Given the description of an element on the screen output the (x, y) to click on. 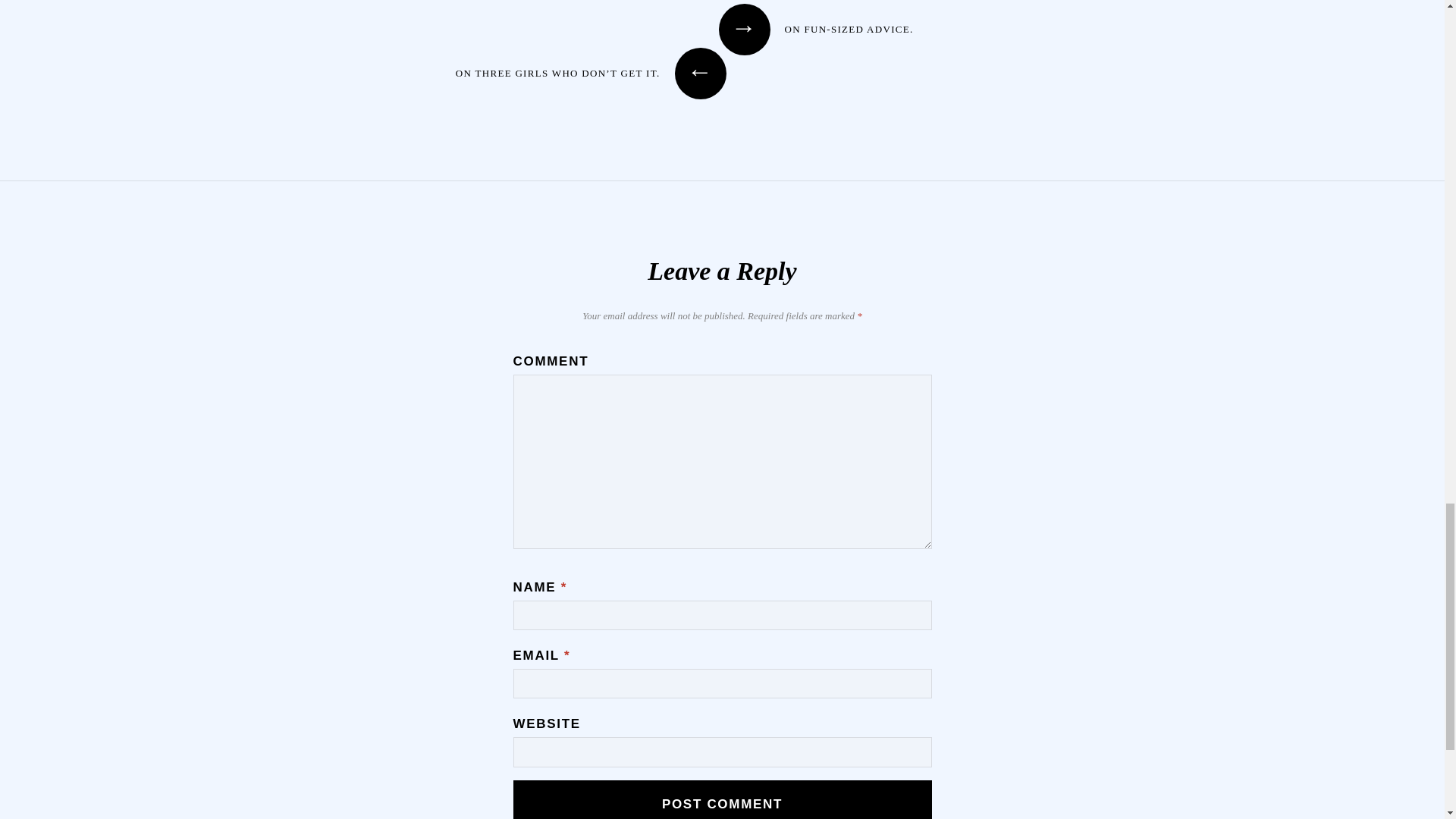
Post Comment (721, 799)
Post Comment (721, 799)
